Given the description of an element on the screen output the (x, y) to click on. 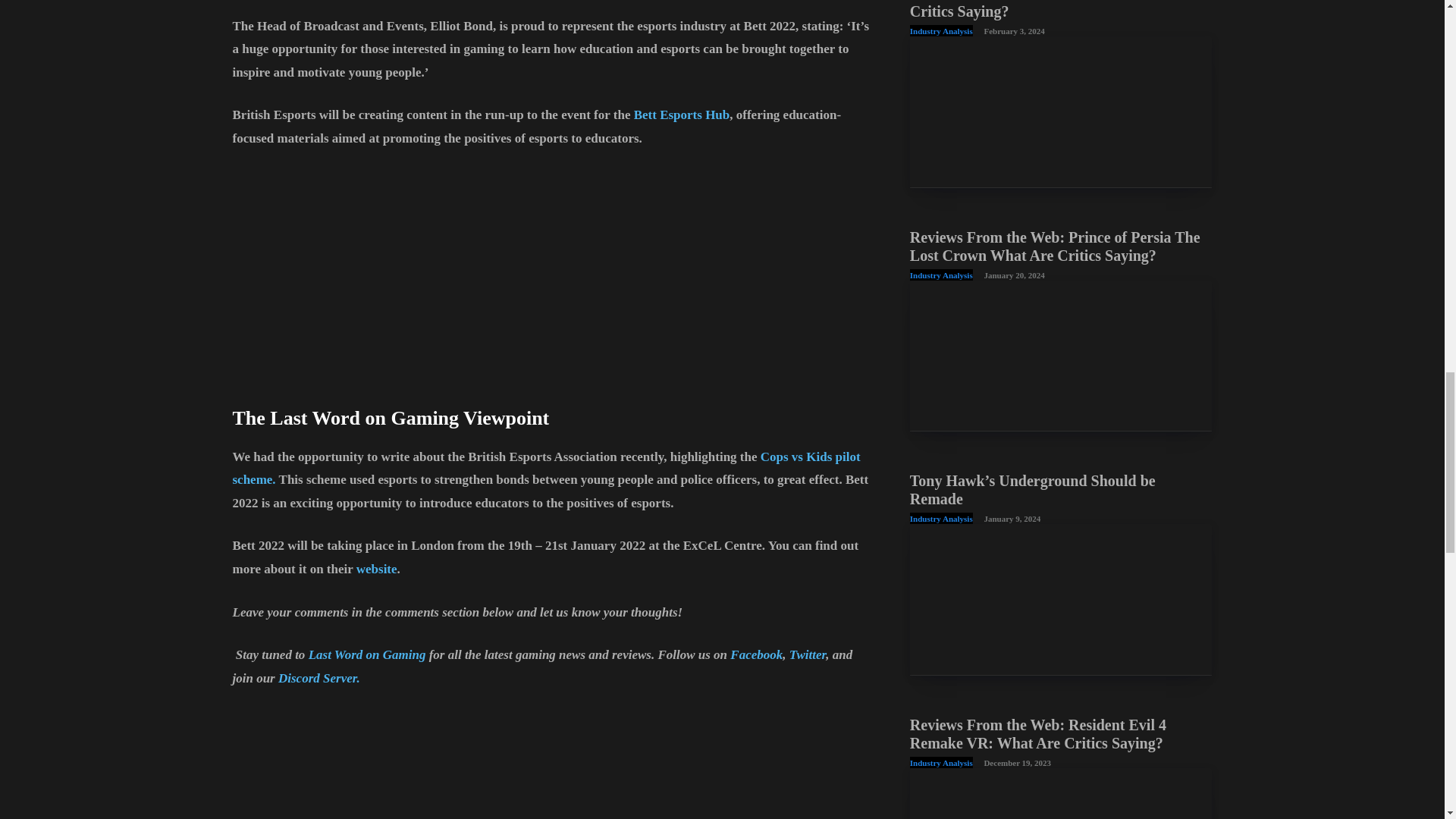
Facebook (756, 654)
Cops vs Kids pilot scheme. (545, 468)
Last Word on Gaming (367, 654)
Reviews From the Web: Tekken 8: What Are Critics Saying? (1054, 9)
Twitter (808, 654)
Bett Esports Hub (681, 114)
